Given the description of an element on the screen output the (x, y) to click on. 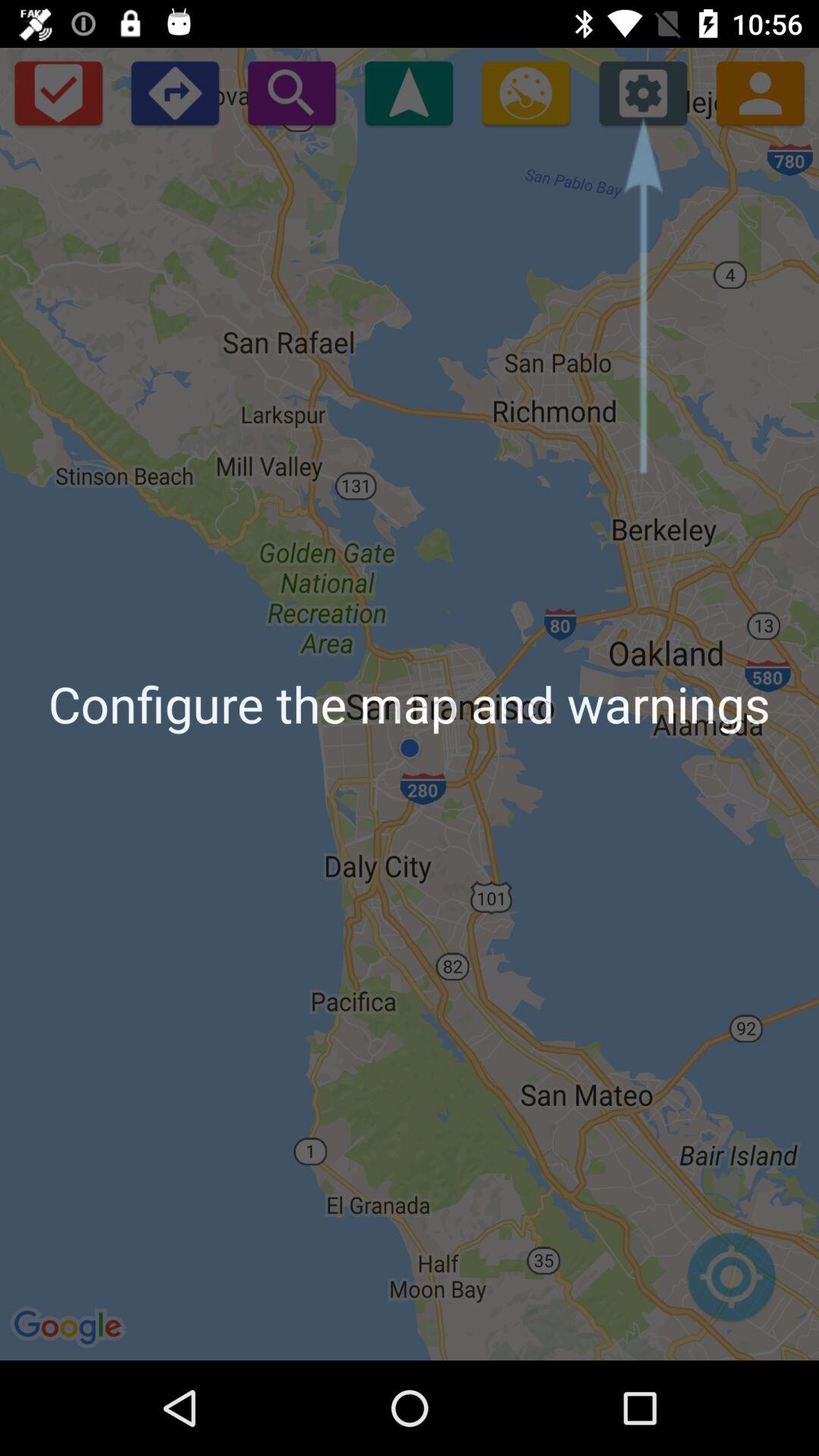
add person (760, 92)
